Given the description of an element on the screen output the (x, y) to click on. 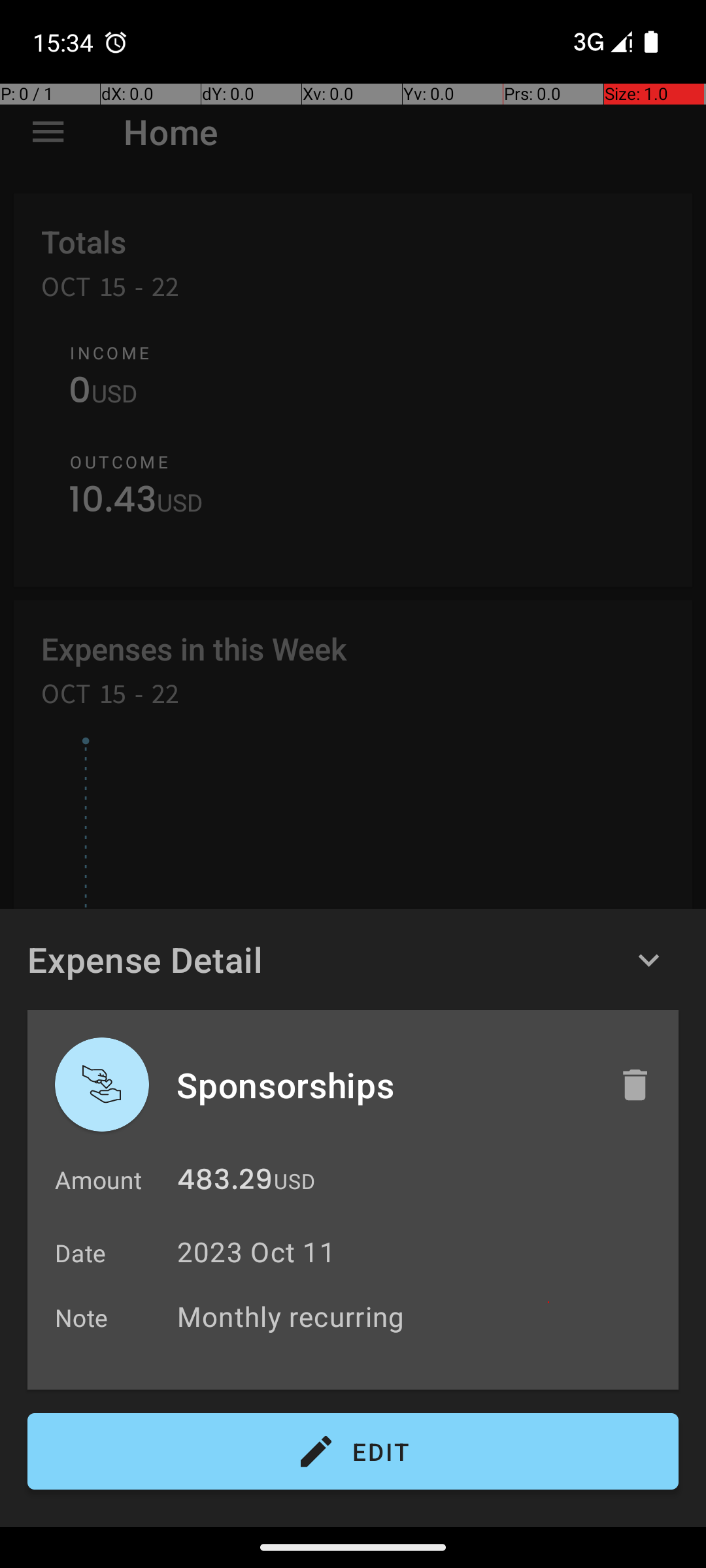
Sponsorships Element type: android.widget.TextView (383, 1084)
483.29 Element type: android.widget.TextView (224, 1182)
